Given the description of an element on the screen output the (x, y) to click on. 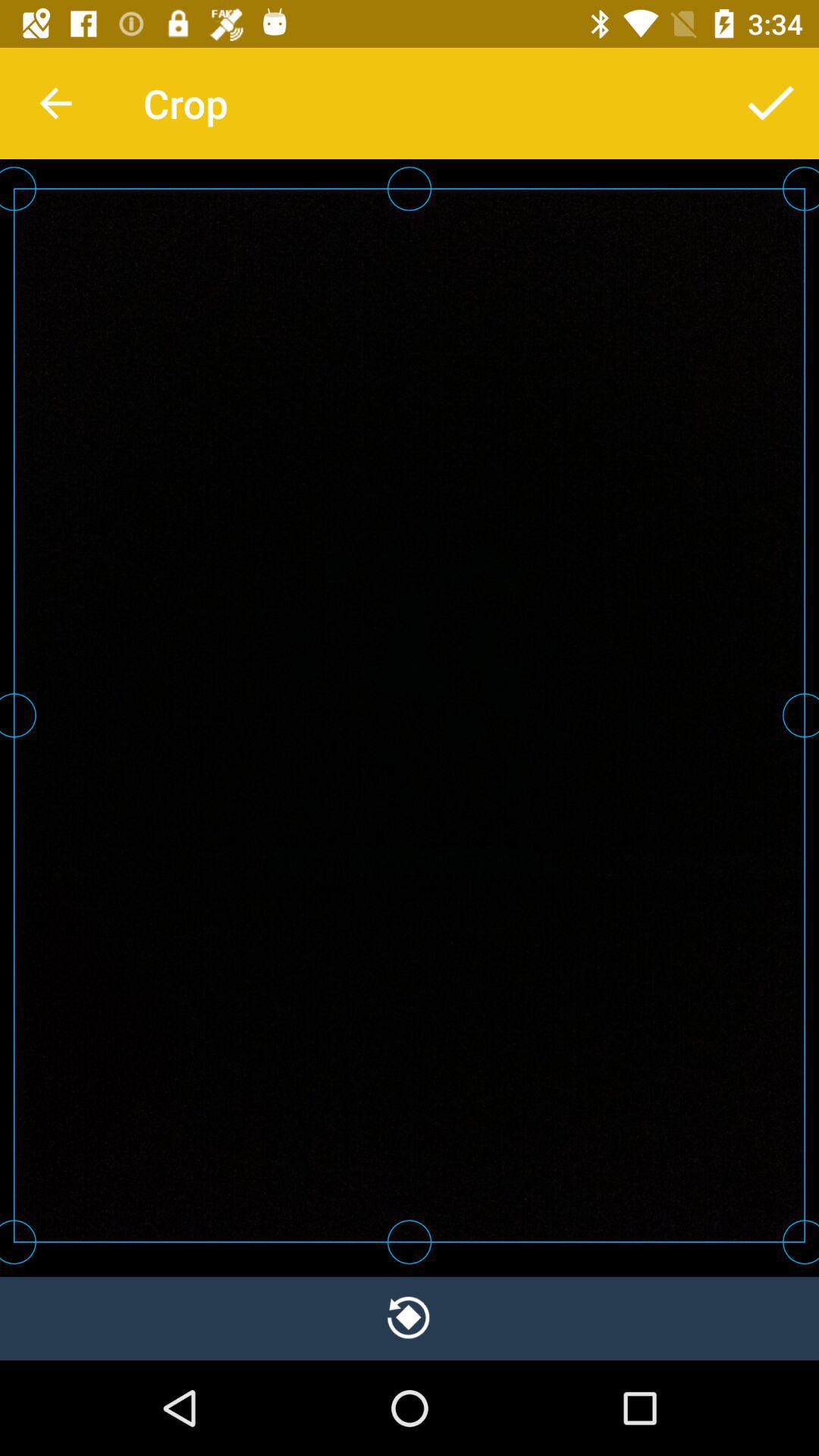
choose item next to crop (55, 103)
